Given the description of an element on the screen output the (x, y) to click on. 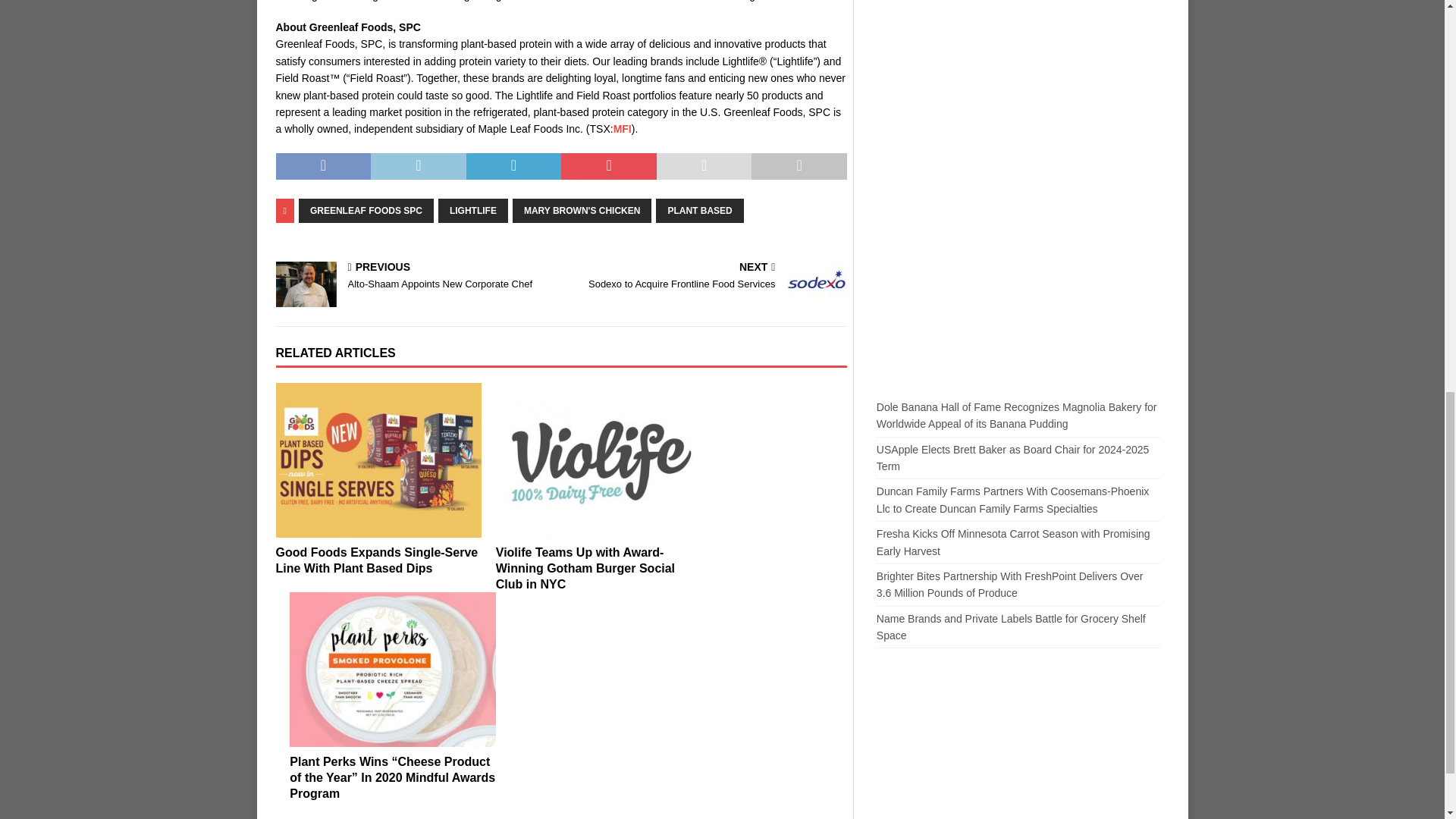
MFI (621, 128)
Good Foods Expands Single-Serve Line With Plant Based Dips (377, 560)
Good Foods Expands Single-Serve Line With Plant Based Dips (378, 460)
